Given the description of an element on the screen output the (x, y) to click on. 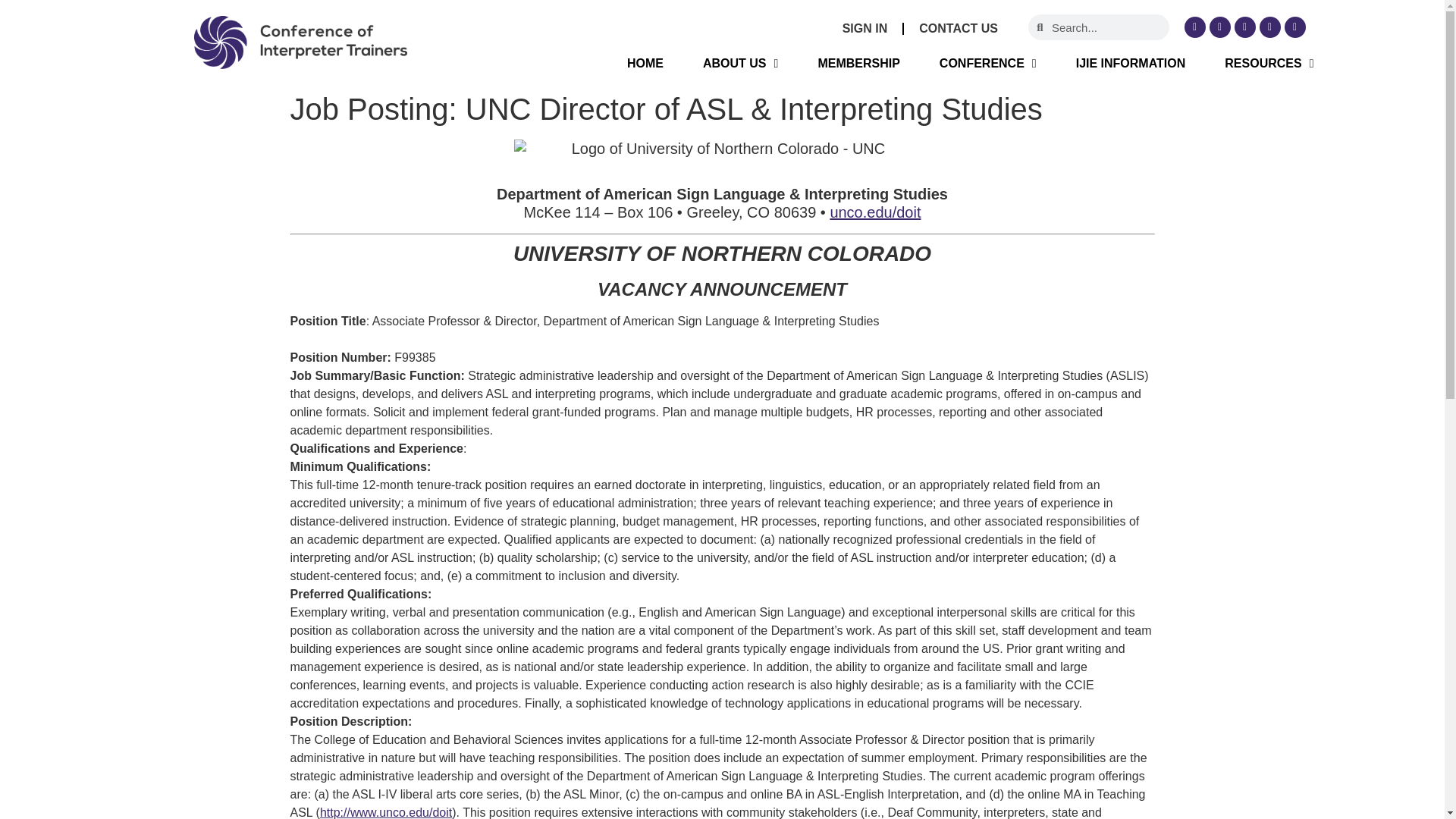
SIGN IN (864, 8)
ABOUT US (740, 61)
IJIE INFORMATION (1131, 63)
MEMBERSHIP (858, 63)
CONFERENCE (987, 63)
CONTACT US (958, 11)
HOME (644, 61)
